Given the description of an element on the screen output the (x, y) to click on. 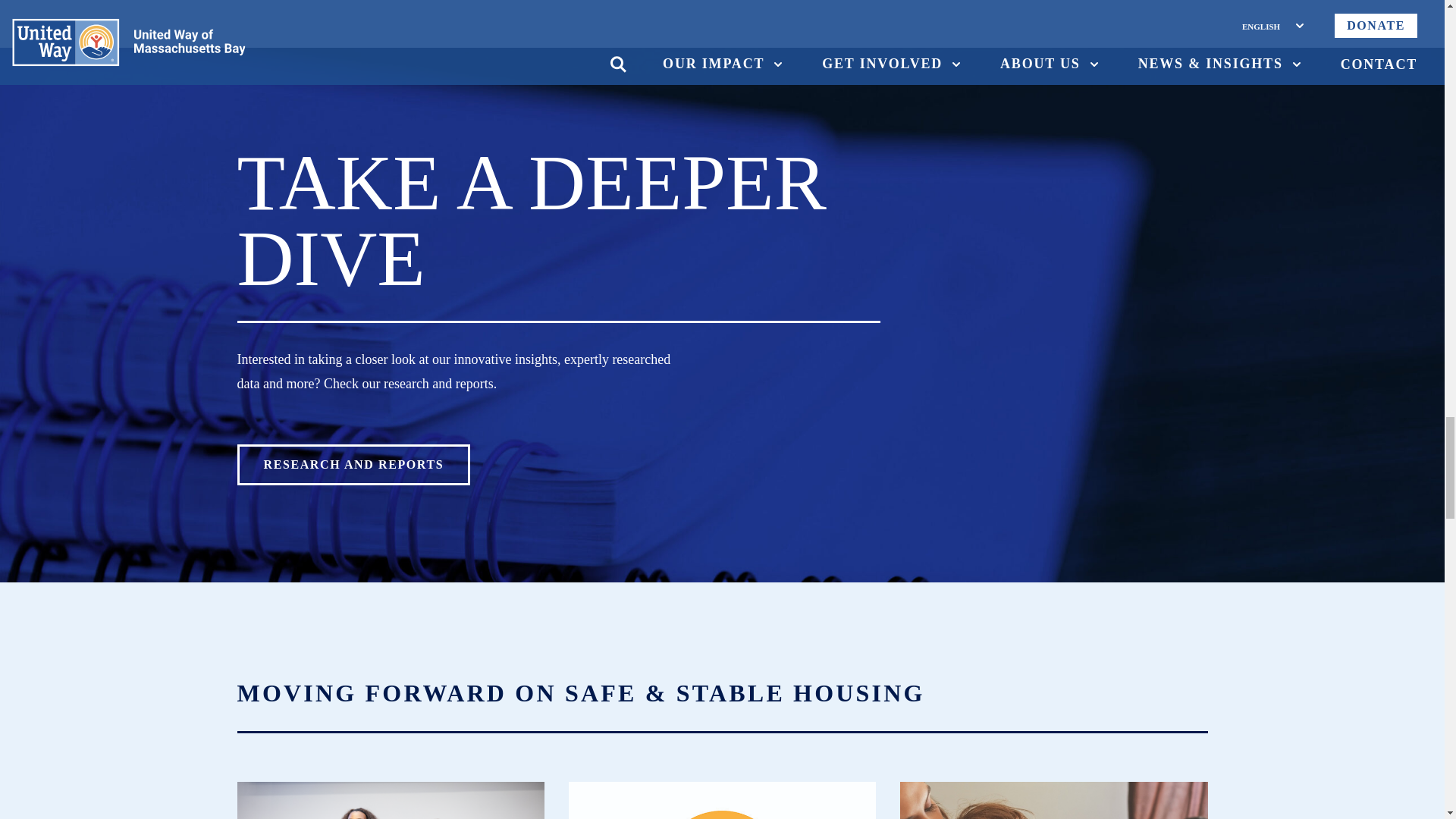
RESEARCH AND REPORTS (352, 464)
